Given the description of an element on the screen output the (x, y) to click on. 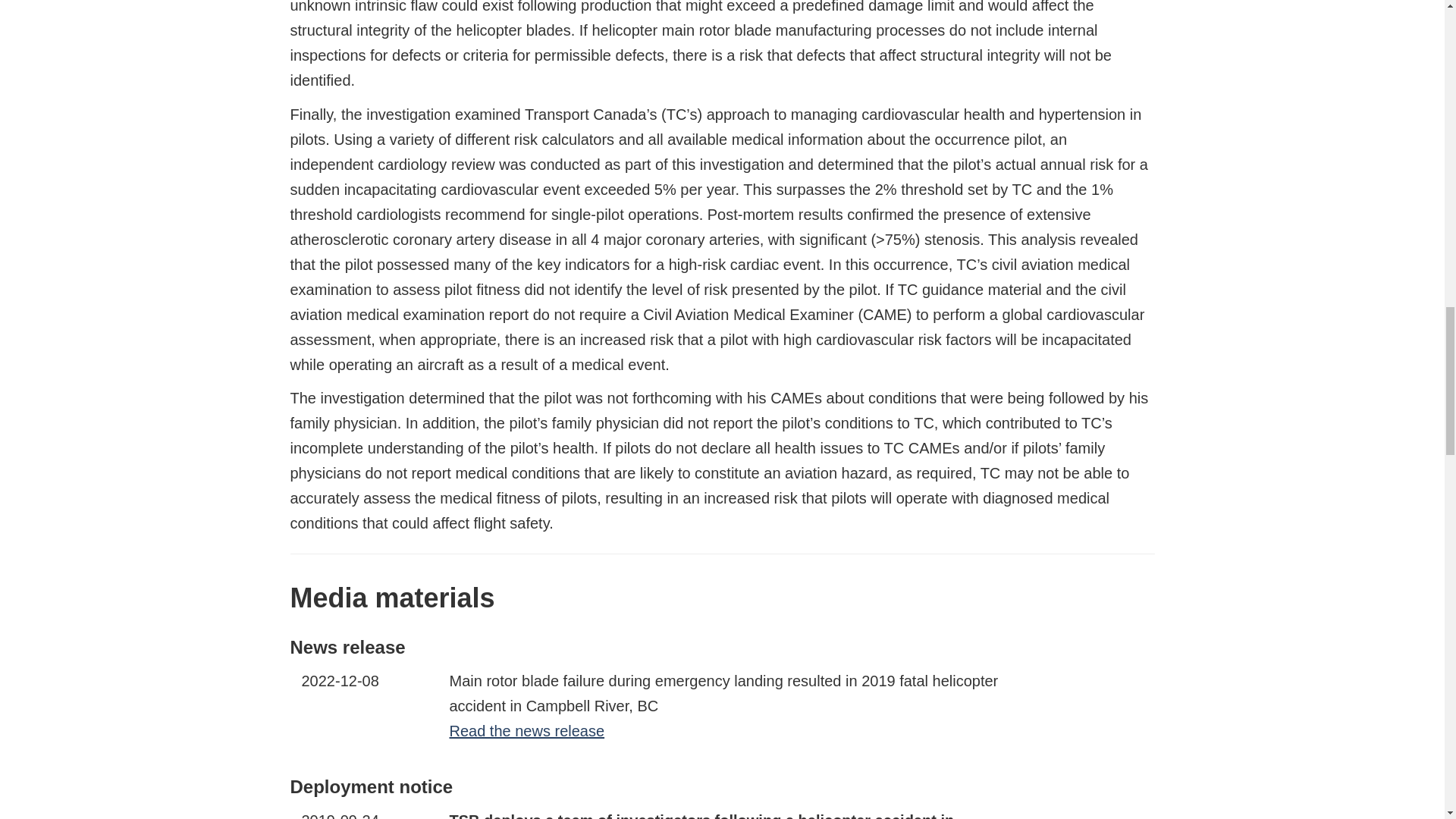
Read the news release (526, 730)
Read the 08 December 2022 news release (526, 730)
